Given the description of an element on the screen output the (x, y) to click on. 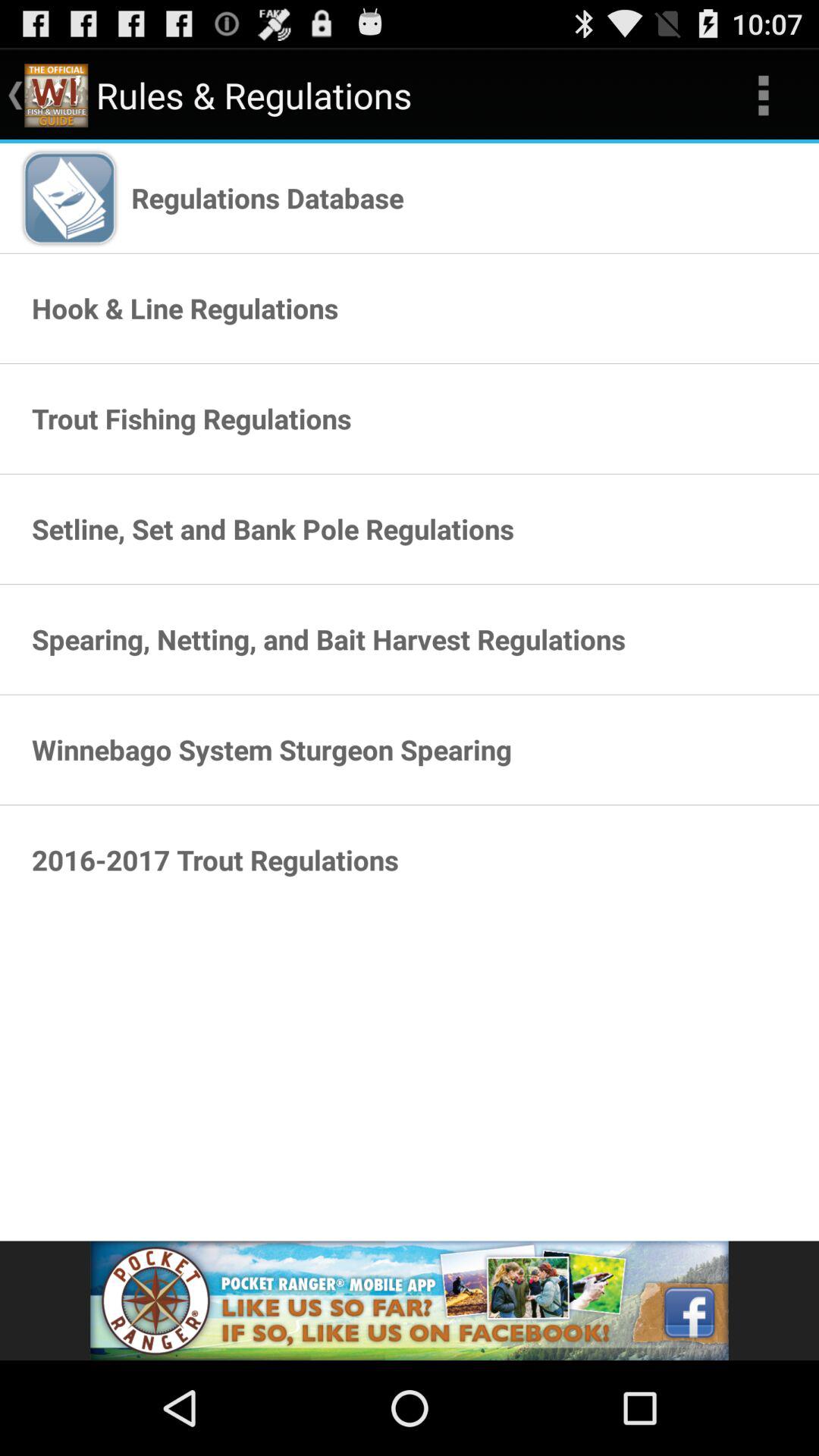
advertisement pop up display (409, 1300)
